Given the description of an element on the screen output the (x, y) to click on. 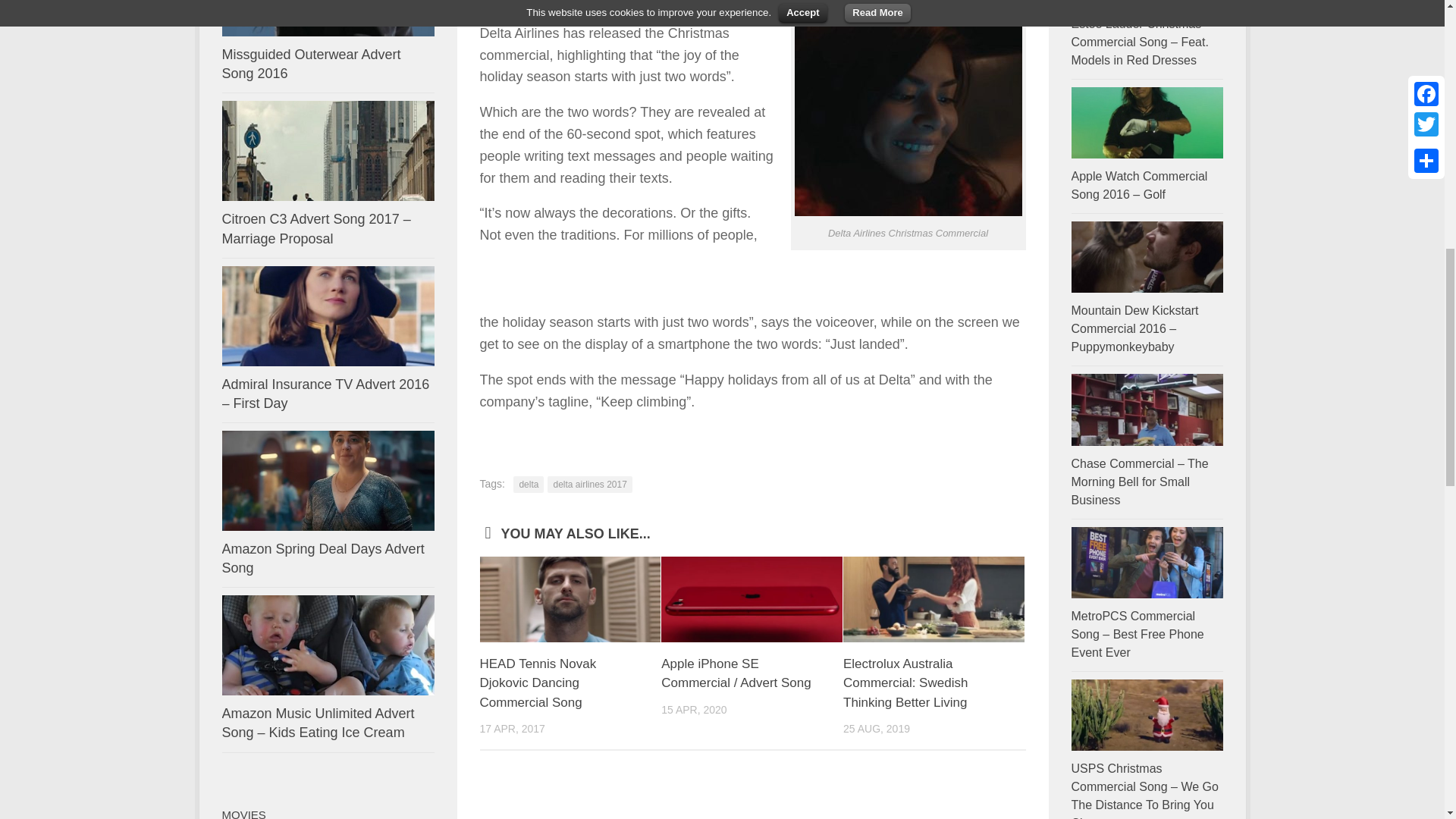
Missguided Outerwear Advert Song 2016 (310, 63)
delta (528, 484)
HEAD Tennis Novak Djokovic Dancing Commercial Song (570, 598)
delta airlines 2017 (589, 484)
HEAD Tennis Novak Djokovic Dancing Commercial Song (537, 683)
Amazon Spring Deal Days Advert Song (322, 558)
Missguided Outerwear Advert Song 2016 (327, 18)
Missguided Outerwear Advert Song 2016 (310, 63)
HEAD Tennis Novak Djokovic Dancing Commercial Song (537, 683)
